Given the description of an element on the screen output the (x, y) to click on. 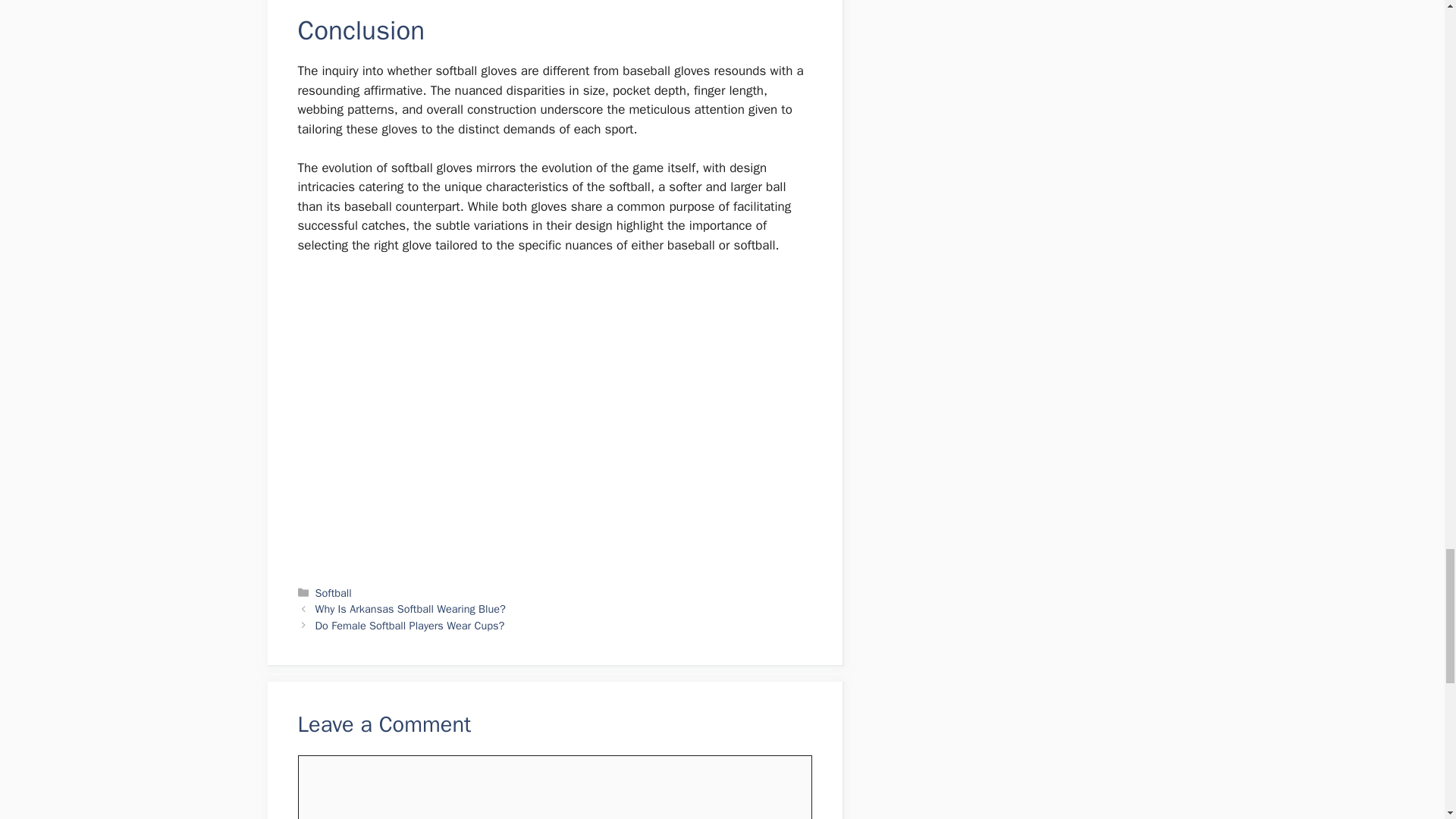
Why Is Arkansas Softball Wearing Blue? (410, 608)
Softball (333, 592)
Do Female Softball Players Wear Cups? (410, 625)
